Given the description of an element on the screen output the (x, y) to click on. 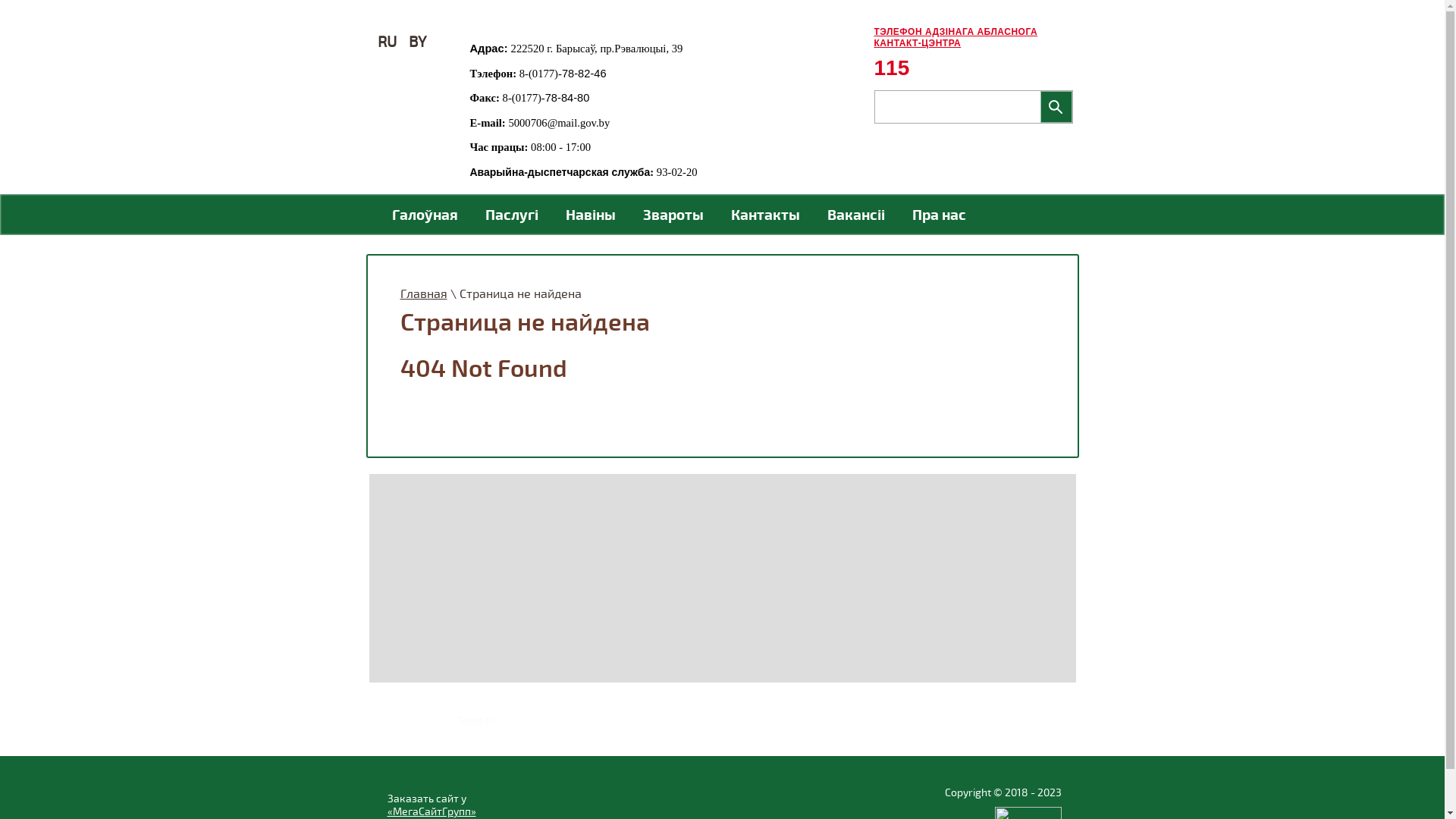
RU Element type: text (386, 41)
BY Element type: text (416, 41)
